Given the description of an element on the screen output the (x, y) to click on. 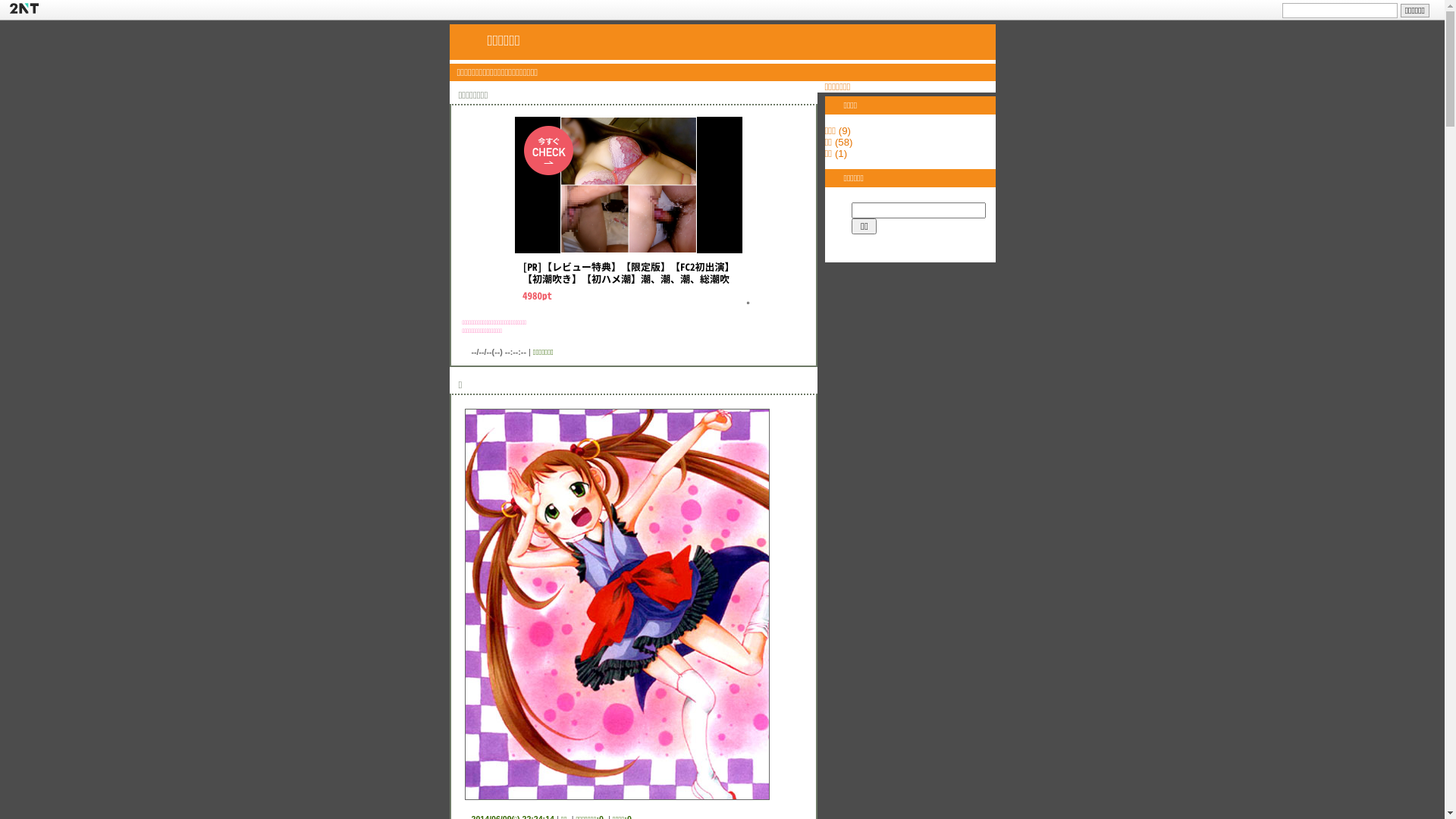
--/--/--(--) --:--:-- Element type: text (498, 351)
